Given the description of an element on the screen output the (x, y) to click on. 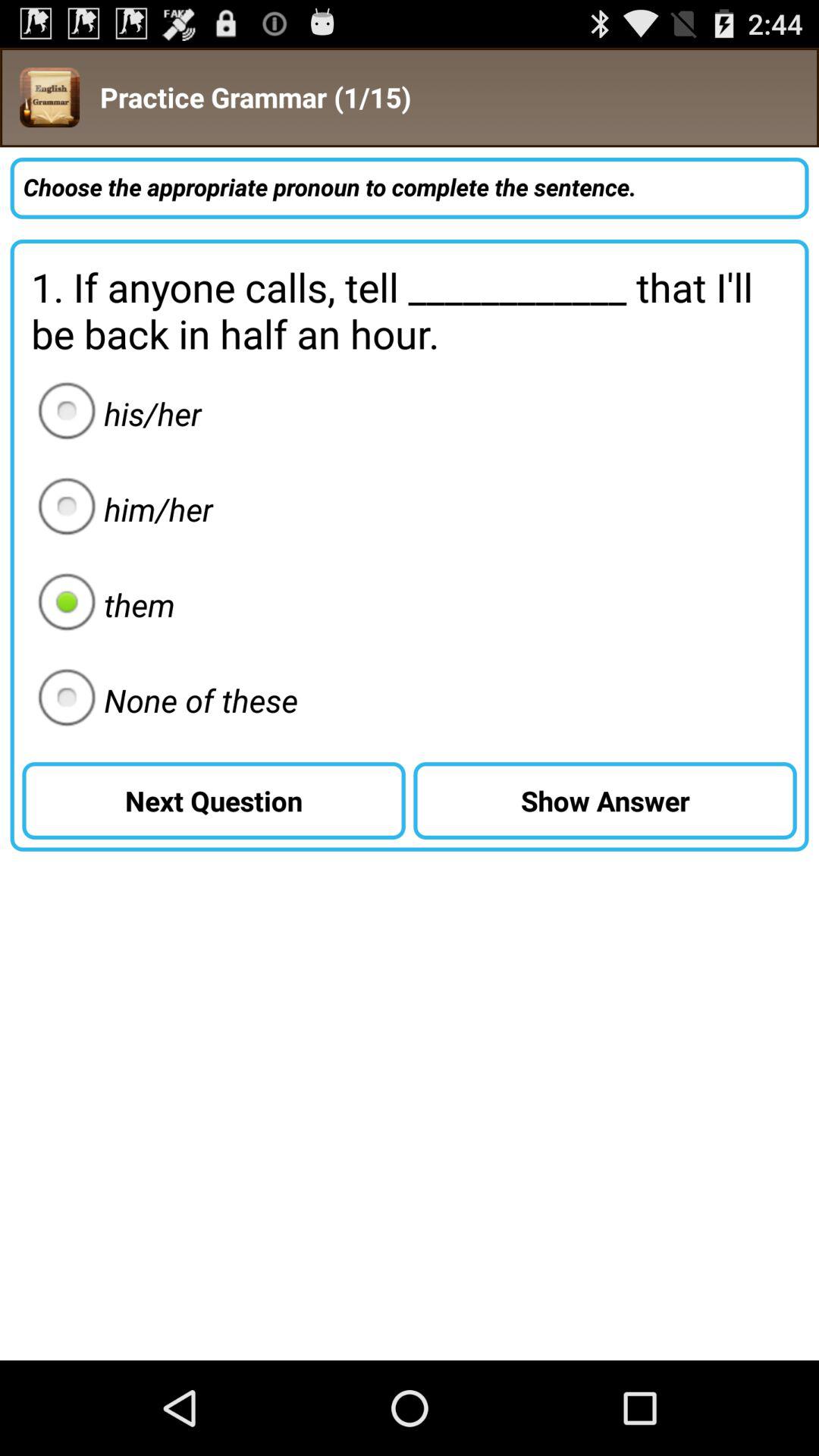
scroll to next question item (213, 800)
